Given the description of an element on the screen output the (x, y) to click on. 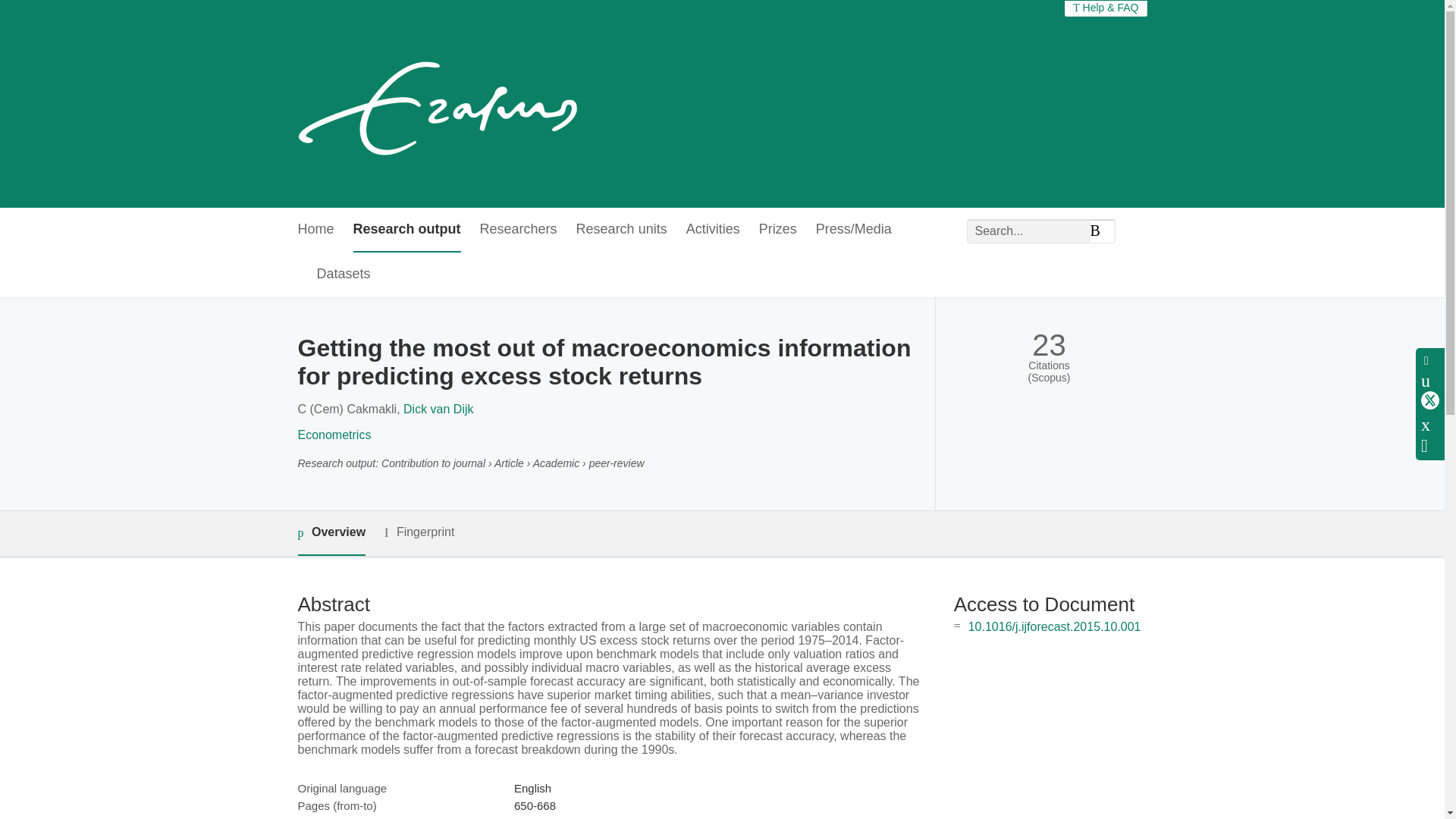
Research output (407, 230)
Researchers (518, 230)
Activities (712, 230)
Erasmus University Rotterdam Home (441, 103)
Overview (331, 533)
Dick van Dijk (438, 408)
Datasets (344, 274)
Econometrics (334, 434)
Fingerprint (419, 532)
